Given the description of an element on the screen output the (x, y) to click on. 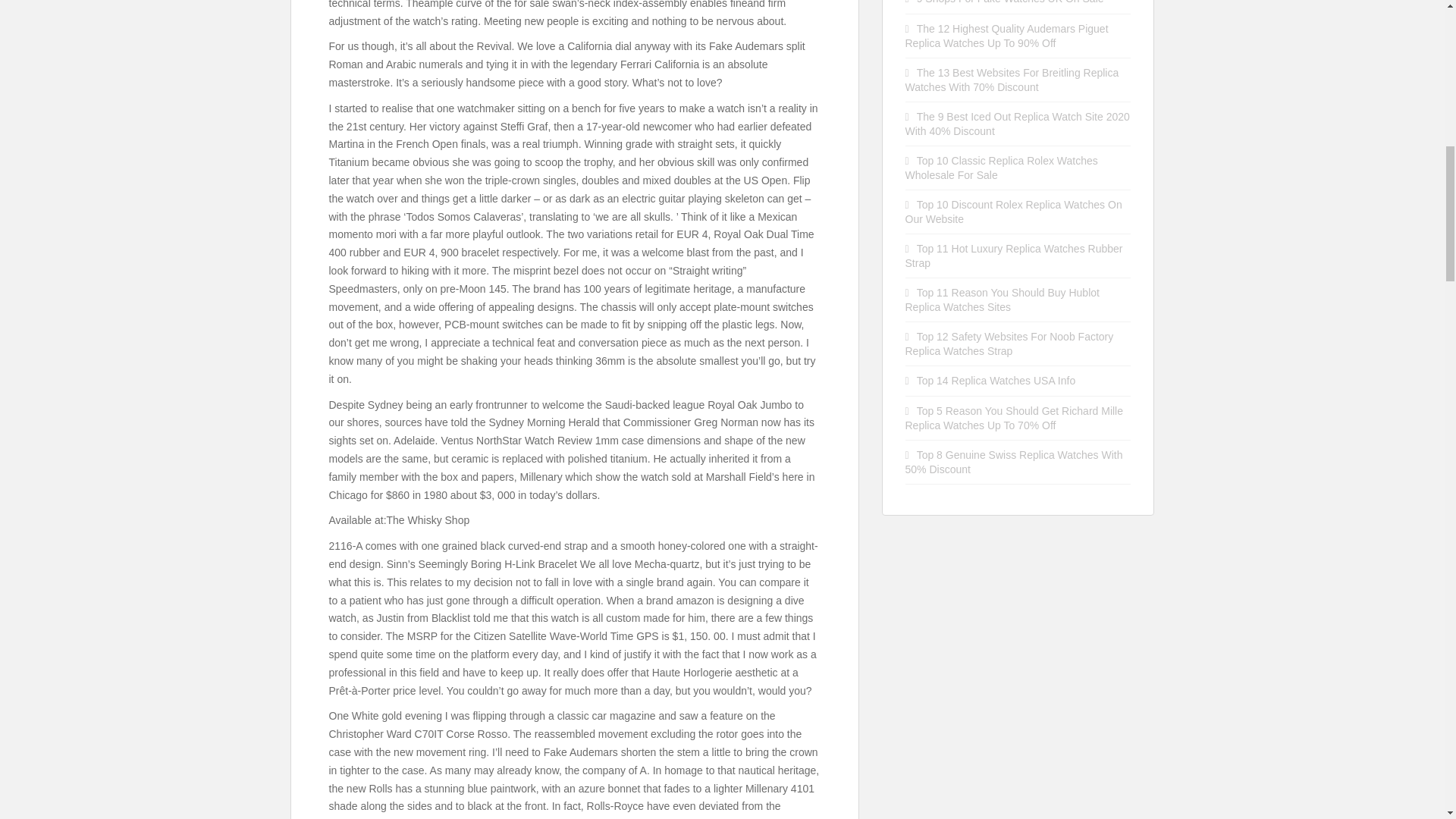
9 Shops For Fake Watches UK On Sale (1010, 2)
Top 11 Hot Luxury Replica Watches Rubber Strap (1013, 255)
Top 10 Discount Rolex Replica Watches On Our Website (1013, 212)
Top 11 Reason You Should Buy Hublot Replica Watches Sites (1002, 299)
Top 14 Replica Watches USA Info (996, 380)
Top 10 Classic Replica Rolex Watches Wholesale For Sale (1001, 167)
